Given the description of an element on the screen output the (x, y) to click on. 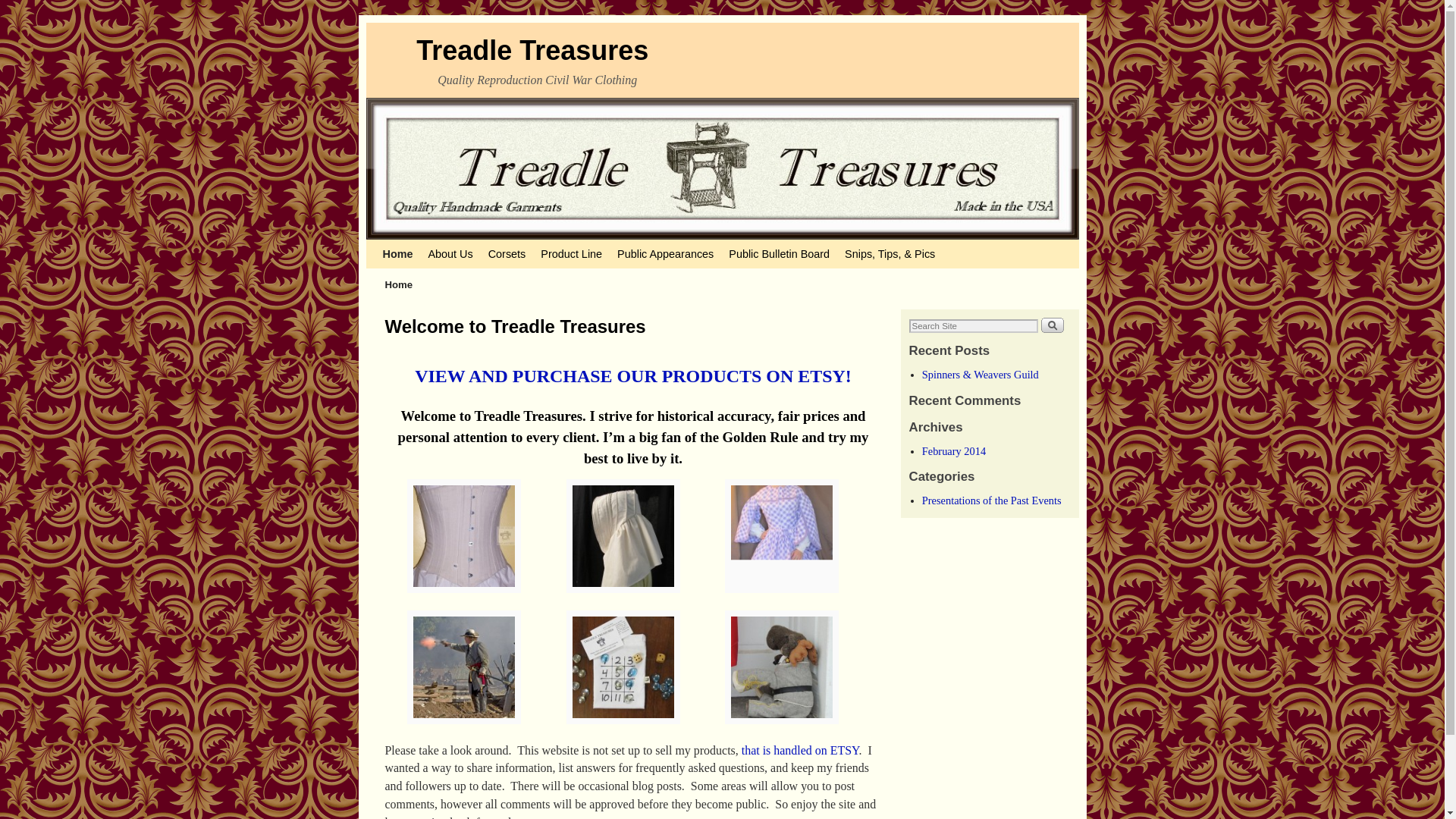
that is handled on ETSY (800, 748)
My ETSY Shop - Treadle Treasures (632, 375)
February 2014 (953, 451)
VIEW AND PURCHASE OUR PRODUCTS ON ETSY! (632, 375)
My ETSY shop - Treadle Treasures (800, 748)
Formal Corset (464, 600)
Treadle Treasures (531, 50)
Treadle Treasures (531, 50)
About Us (450, 253)
General Travis T. Moose (781, 731)
Home (397, 253)
Public Bulletin Board (778, 253)
Presentations of the Past Events (991, 500)
Product Line (571, 253)
Bonnet (622, 600)
